Given the description of an element on the screen output the (x, y) to click on. 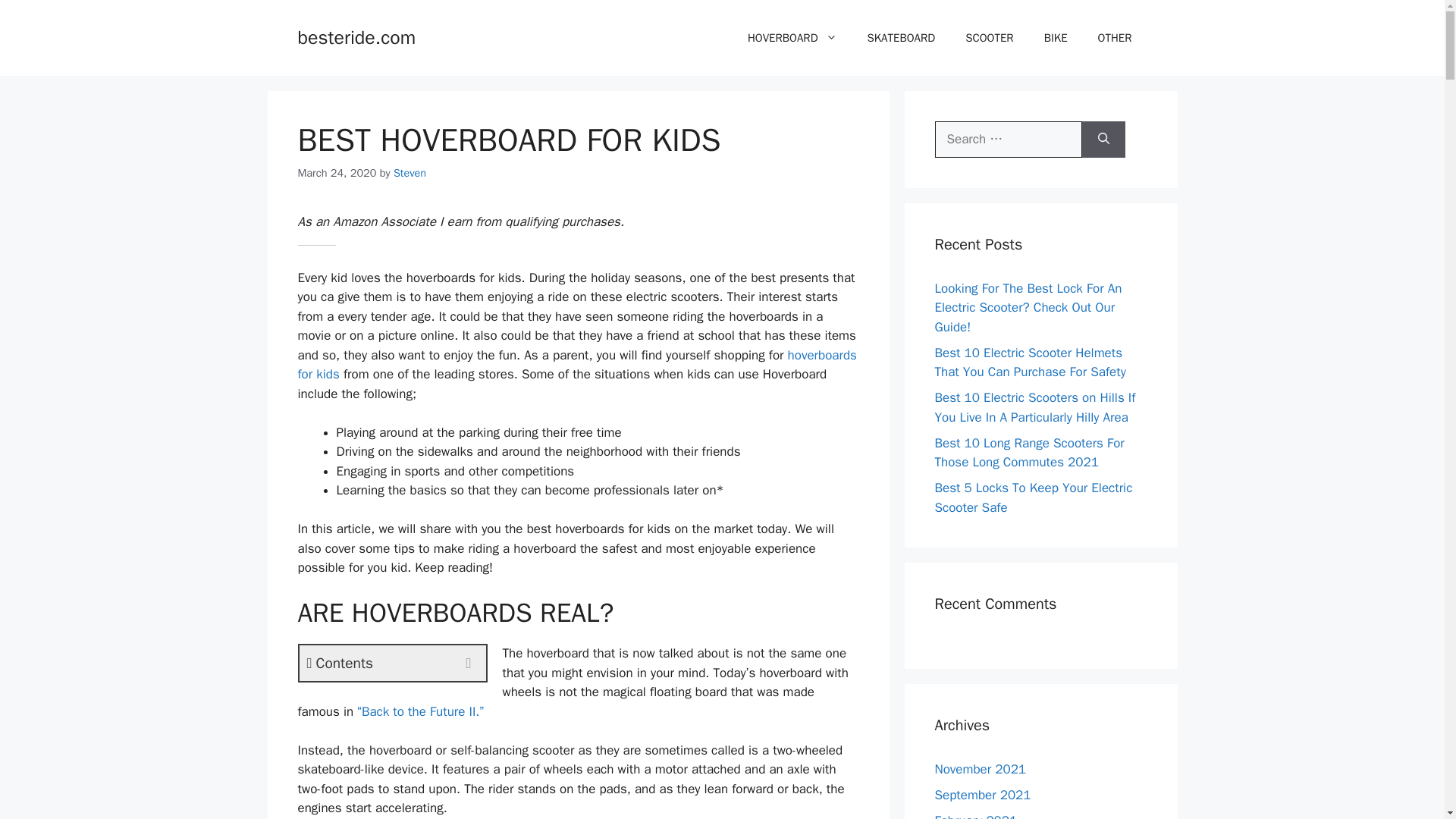
Search for: (1007, 139)
View all posts by Steven (409, 172)
besteride.com (355, 37)
OTHER (1115, 37)
SKATEBOARD (900, 37)
HOVERBOARD (791, 37)
Steven (409, 172)
BIKE (1056, 37)
SCOOTER (989, 37)
hoverboards for kids (576, 365)
